Given the description of an element on the screen output the (x, y) to click on. 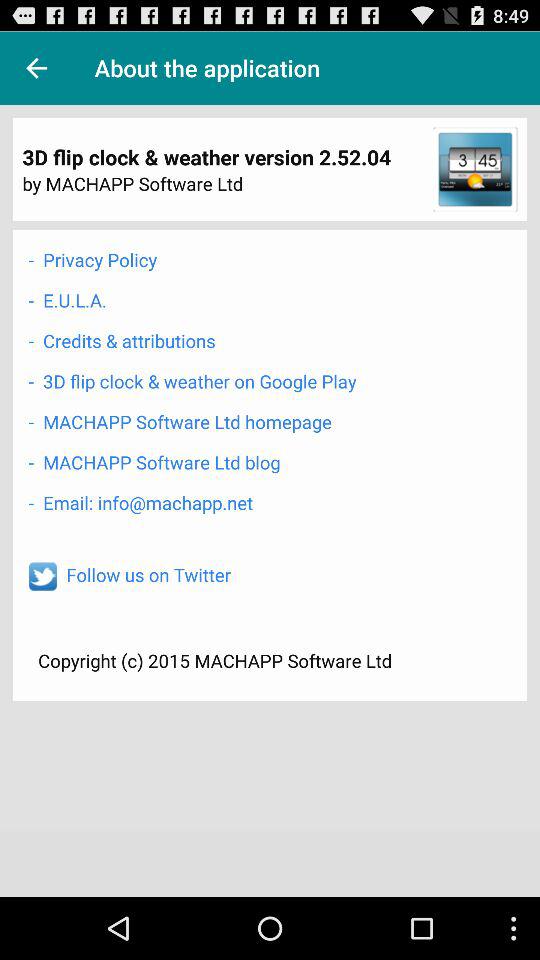
click item at the top right corner (475, 169)
